Given the description of an element on the screen output the (x, y) to click on. 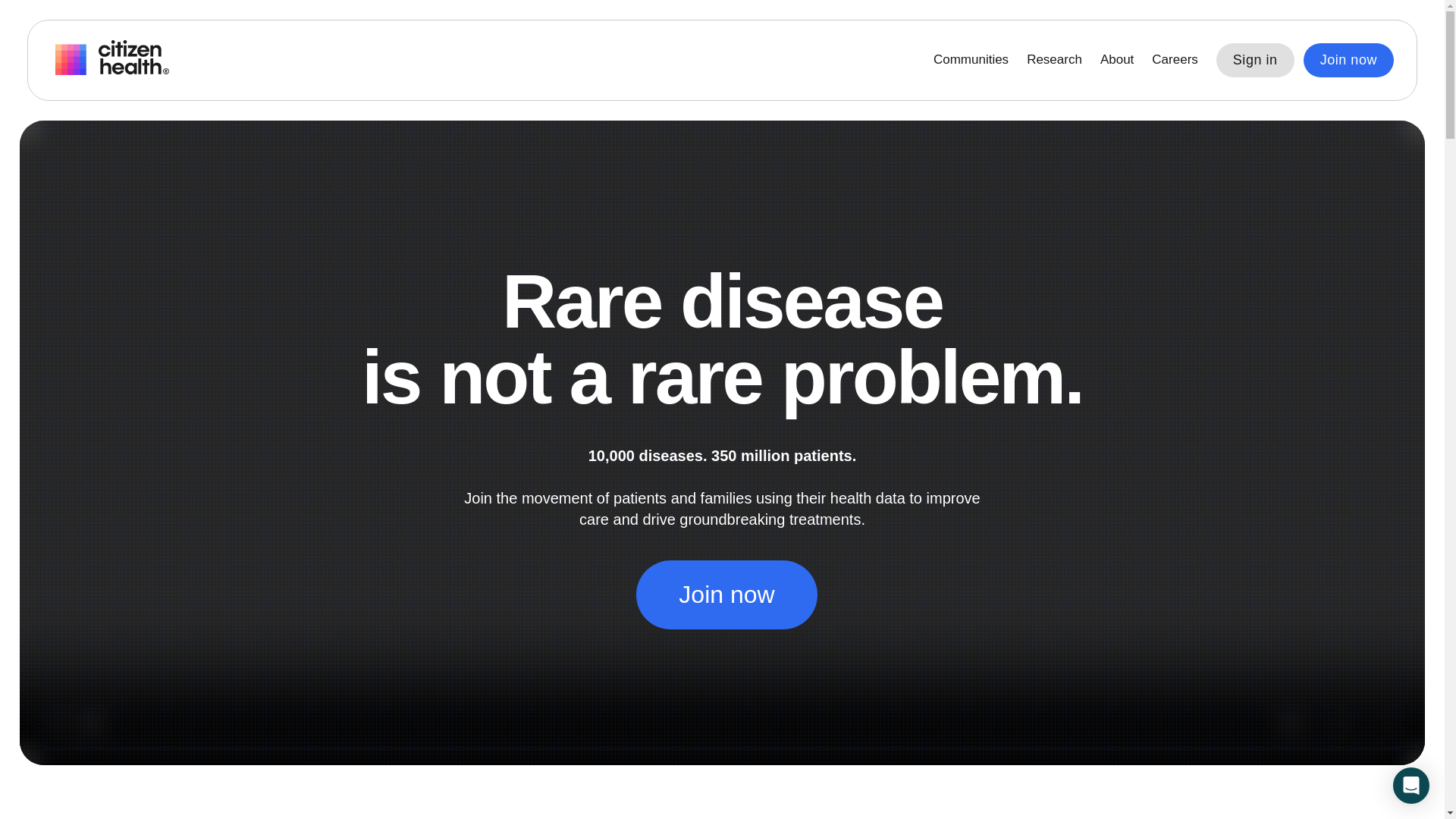
Join now (726, 594)
Research (1053, 59)
About (1117, 59)
Join now (1348, 59)
Careers (1173, 59)
Sign in (1254, 59)
Communities (971, 59)
